Given the description of an element on the screen output the (x, y) to click on. 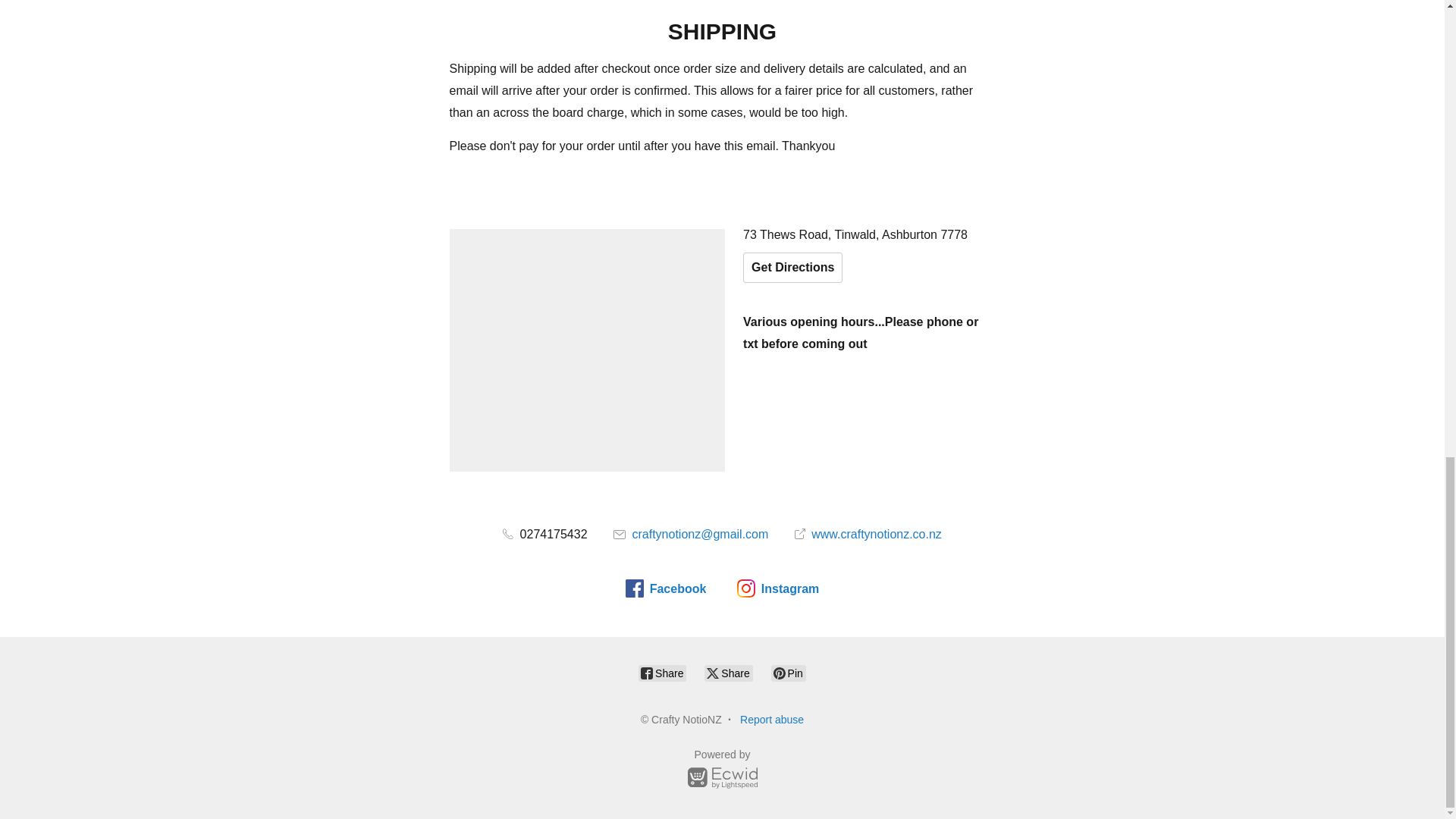
Instagram (777, 588)
Powered by (722, 771)
Report abuse (771, 719)
www.craftynotionz.co.nz (868, 533)
0274175432 (544, 533)
Share (662, 673)
Share (728, 673)
Get Directions (792, 267)
Location on map (586, 350)
Pin (788, 673)
Facebook (666, 588)
